Given the description of an element on the screen output the (x, y) to click on. 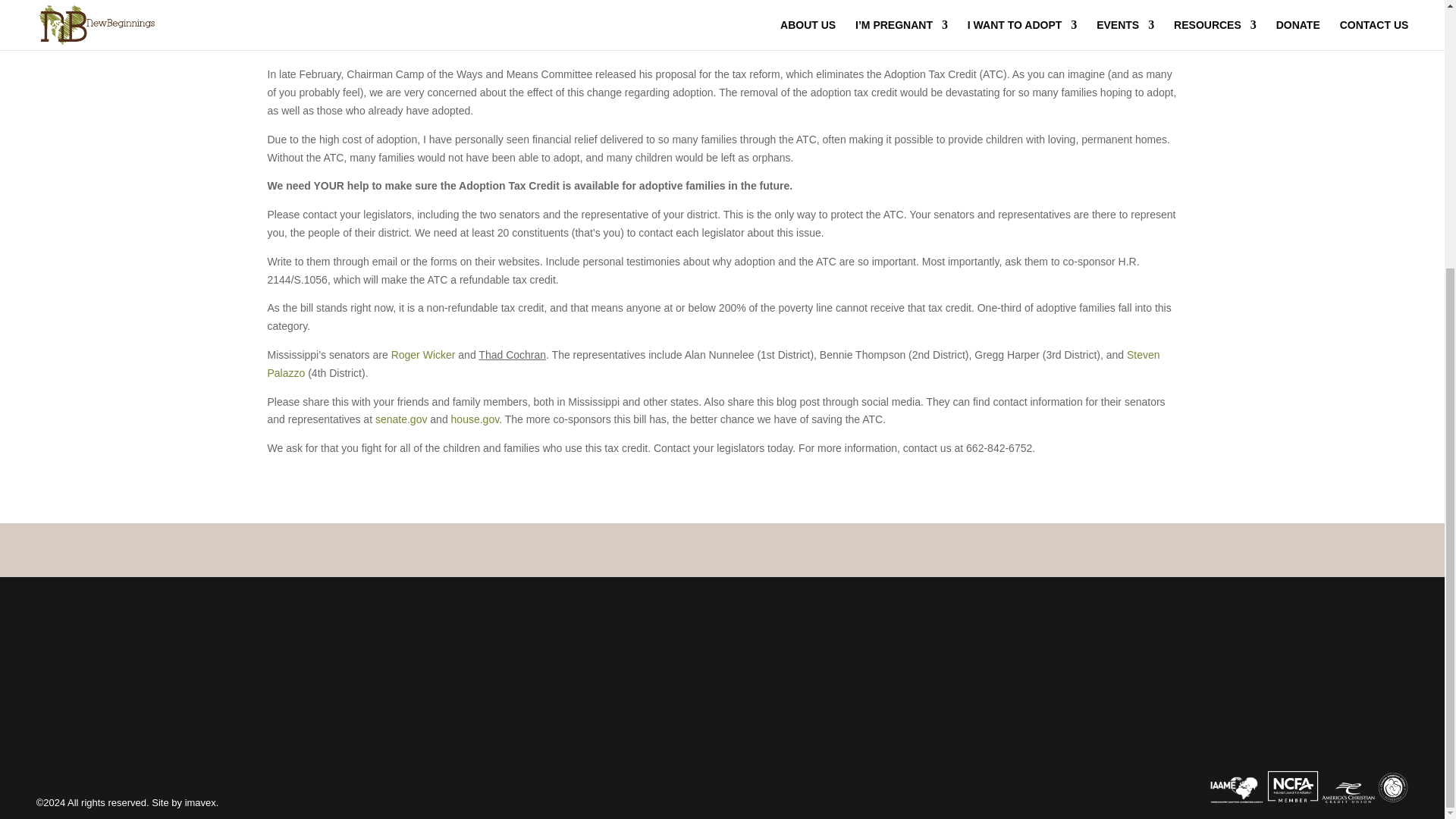
senate.gov (401, 419)
Roger Wicker (423, 354)
Steven Palazzo (712, 363)
house.gov (475, 419)
imavex (199, 802)
